Given the description of an element on the screen output the (x, y) to click on. 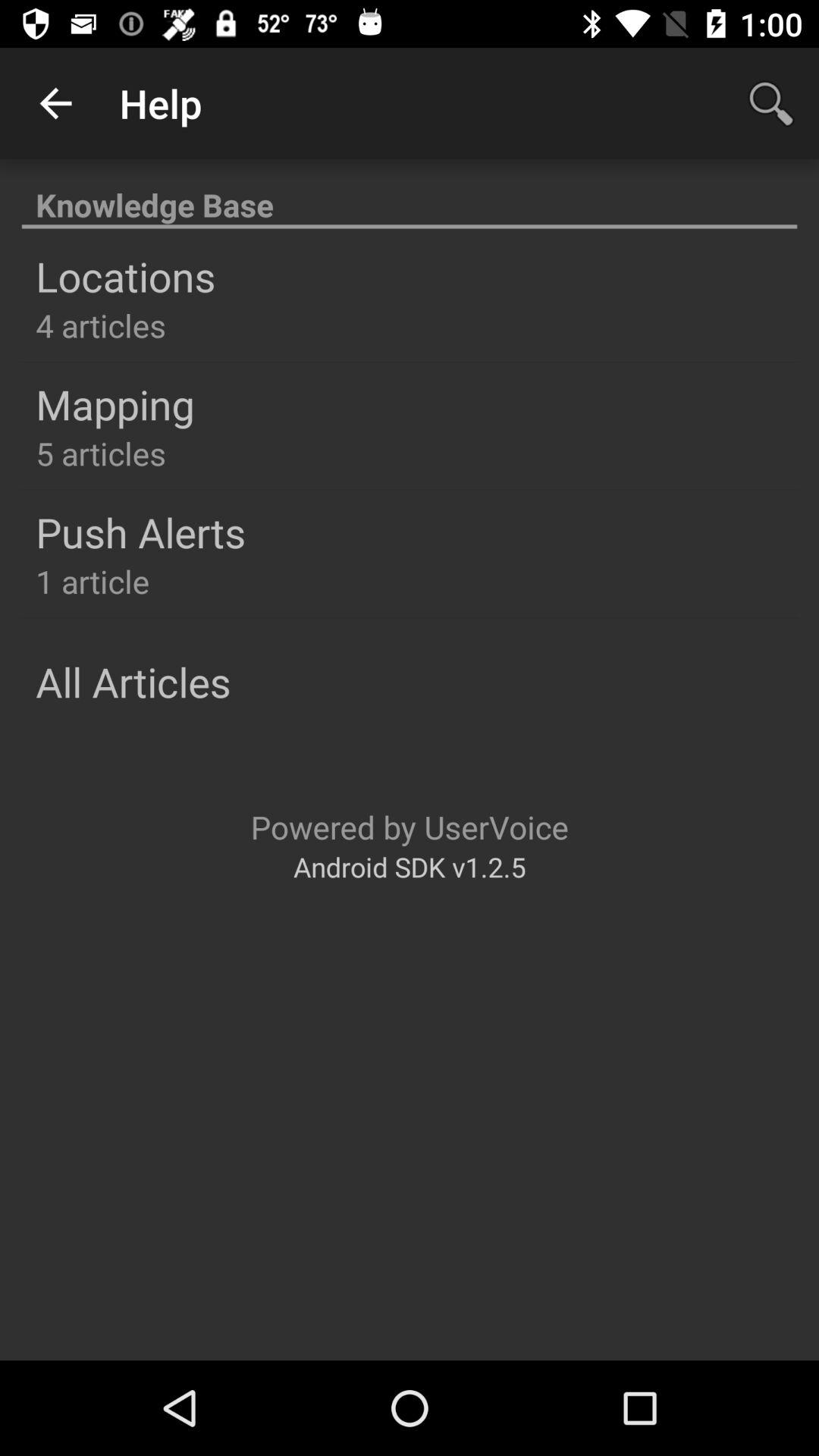
press app to the right of help (771, 103)
